Given the description of an element on the screen output the (x, y) to click on. 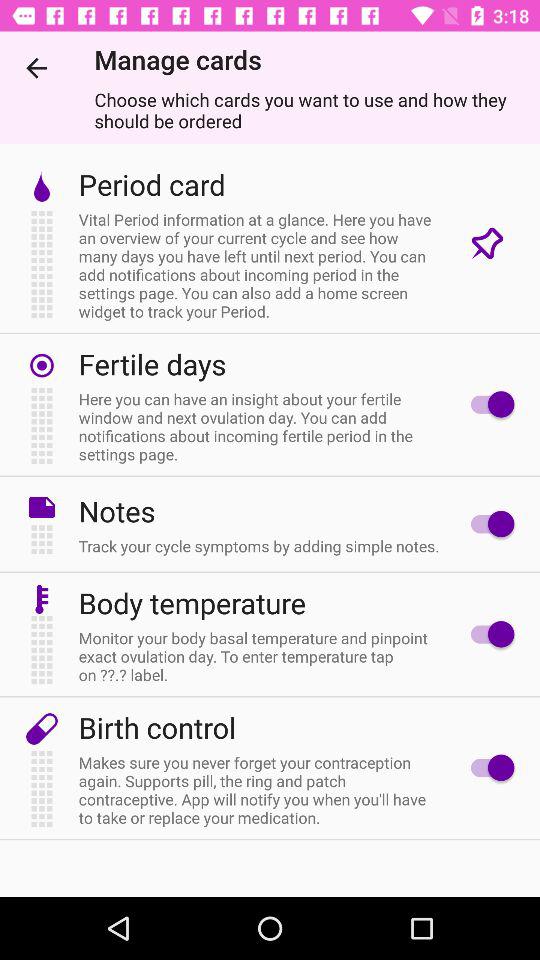
toggle fertile days reminder (487, 404)
